Given the description of an element on the screen output the (x, y) to click on. 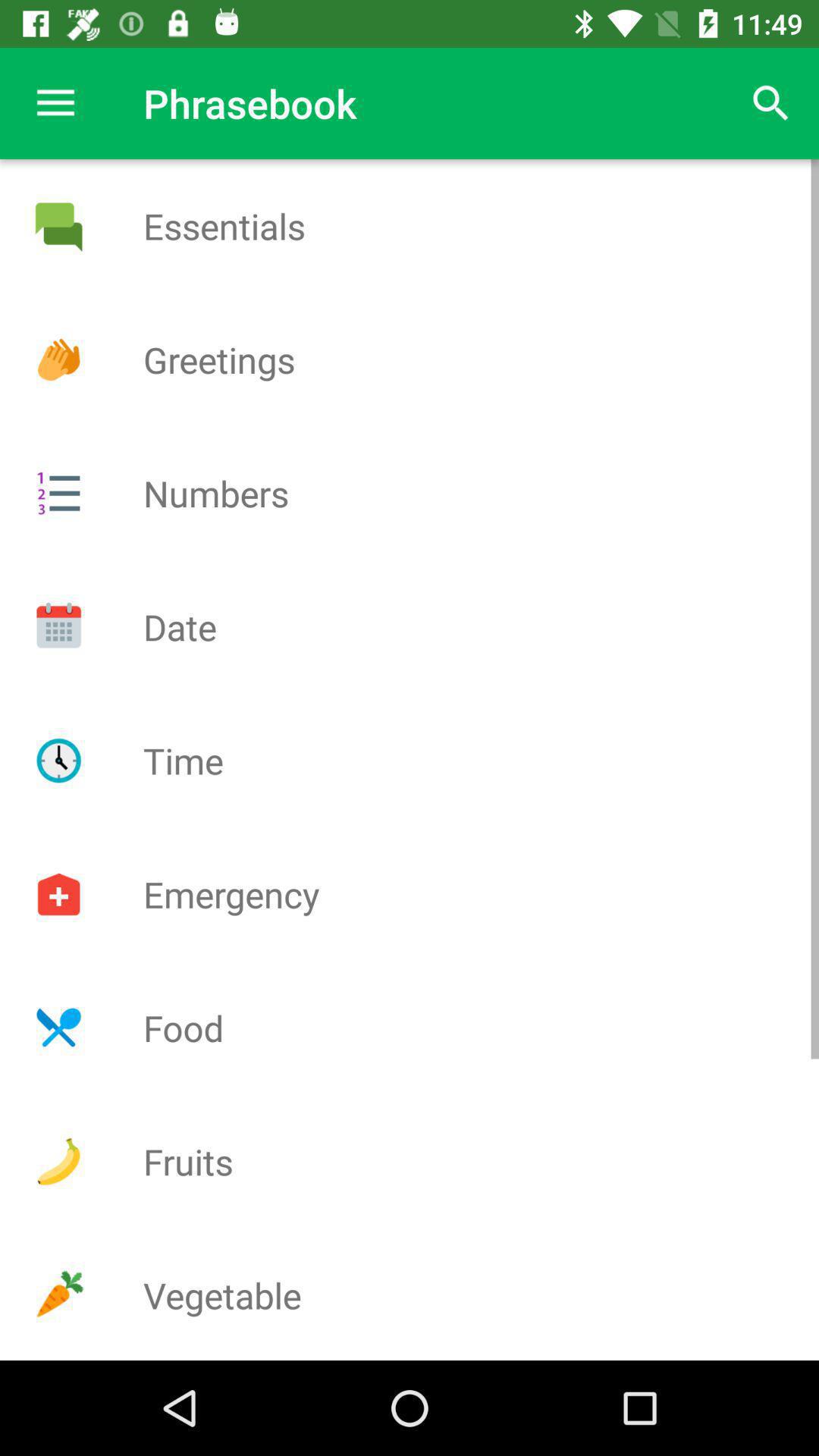
select emergency tab (58, 894)
